Given the description of an element on the screen output the (x, y) to click on. 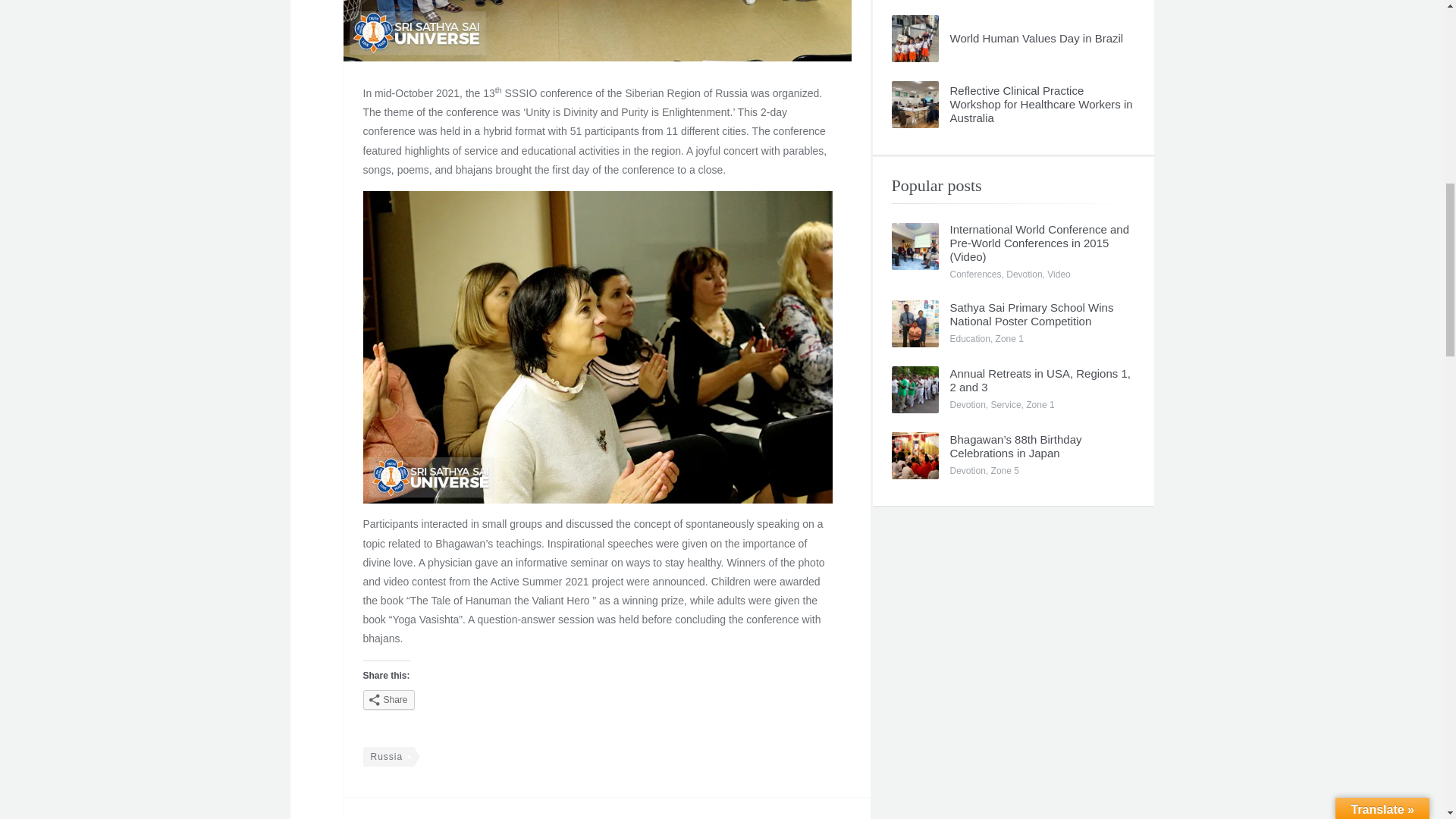
Share (387, 700)
Russia (387, 756)
13th SSSIO Conference of the Siberian Region, Russia (596, 30)
